Given the description of an element on the screen output the (x, y) to click on. 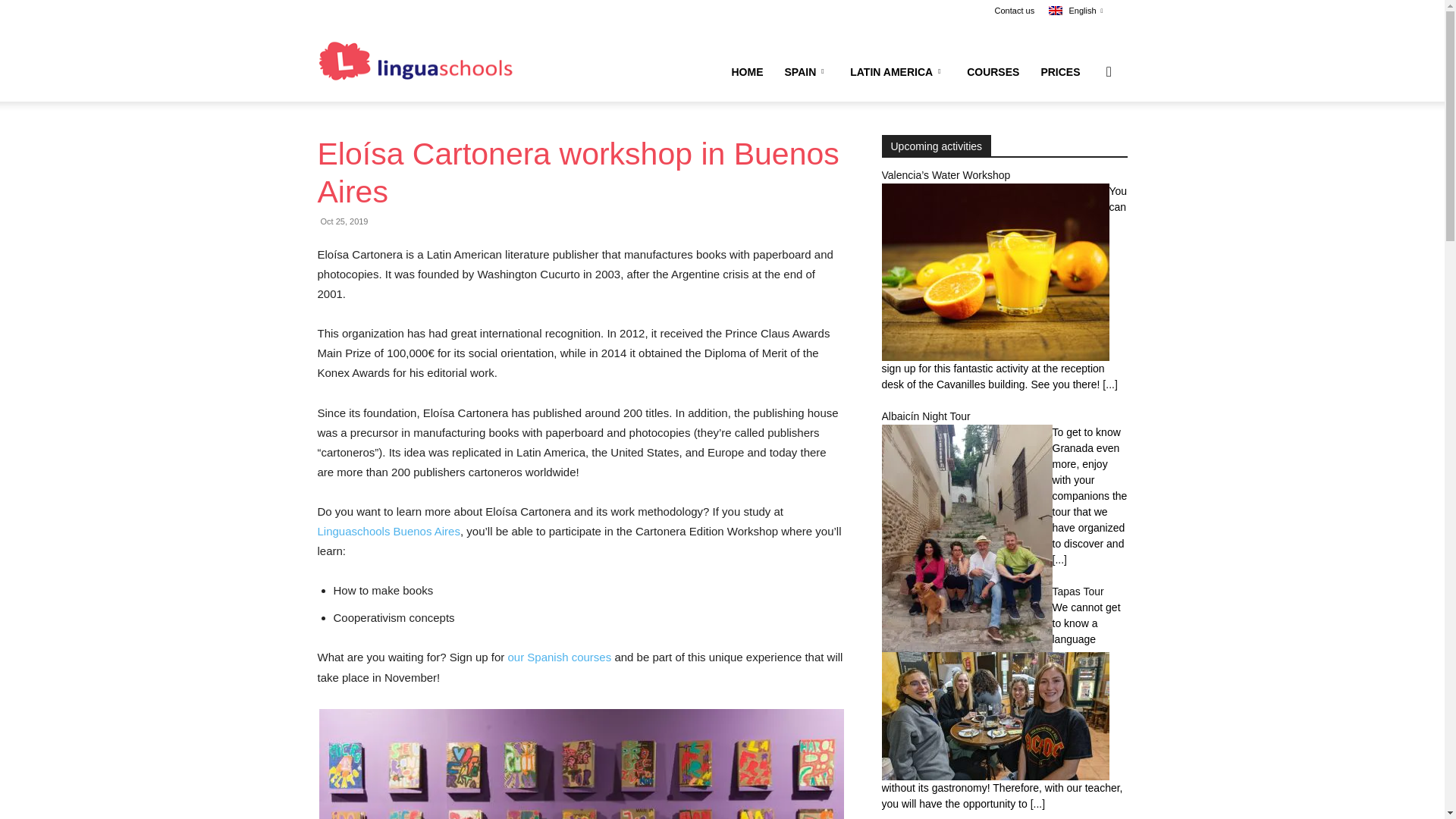
English (1075, 10)
Linguaschools.com blog (415, 61)
eleoisa (580, 764)
HOME (746, 71)
Search (1085, 143)
SPAIN (806, 71)
Linguaschools (415, 61)
Contact us (1014, 10)
English (1075, 10)
